Given the description of an element on the screen output the (x, y) to click on. 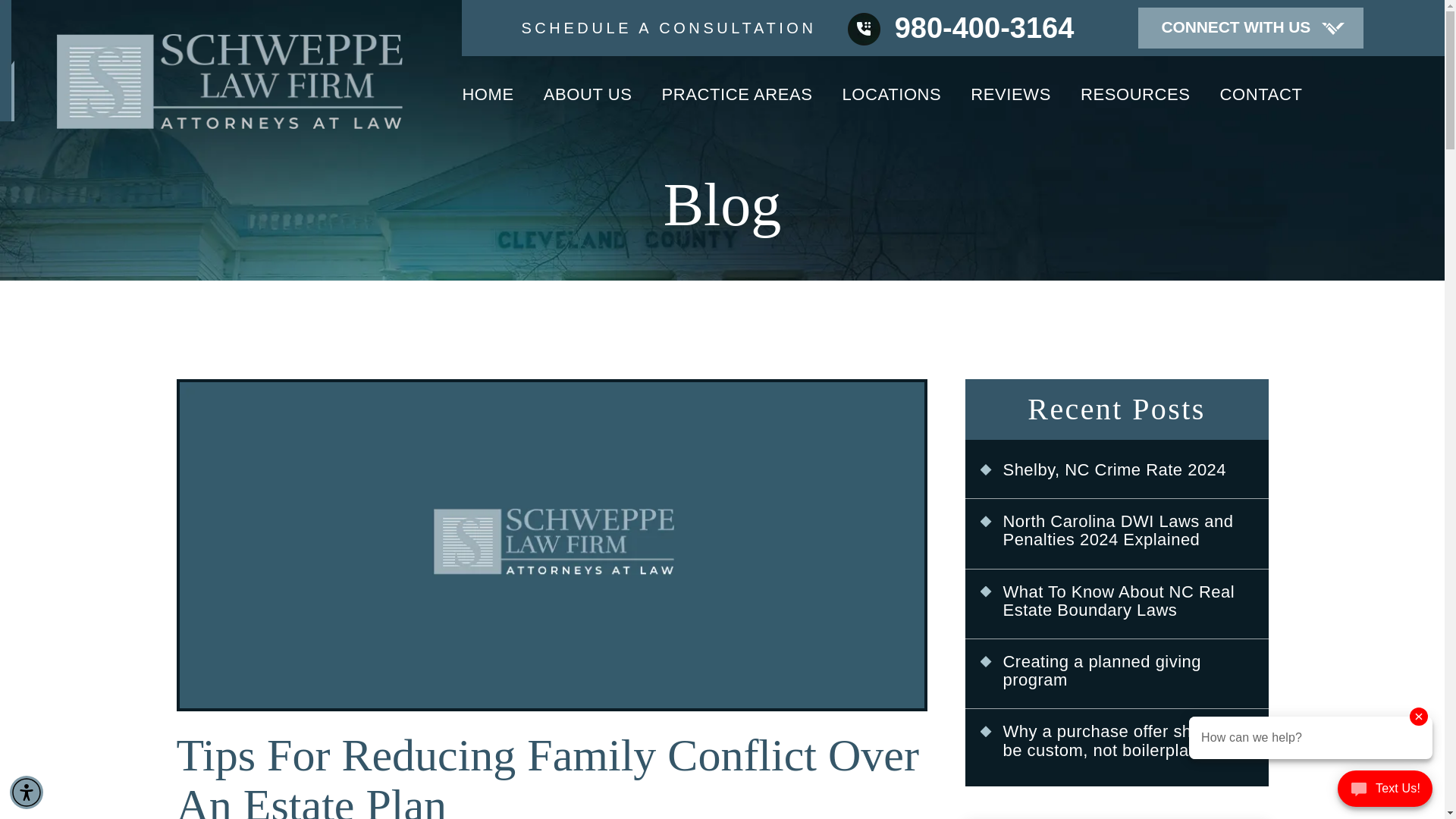
REVIEWS (1011, 101)
HOME (487, 101)
SCHEDULE A CONSULTATION (668, 27)
980-400-3164 (959, 27)
RESOURCES (1135, 101)
CONNECT WITH US (1250, 27)
CONTACT (1261, 99)
ABOUT US (587, 101)
Accessibility Menu (26, 792)
LOCATIONS (892, 101)
PRACTICE AREAS (737, 101)
